Given the description of an element on the screen output the (x, y) to click on. 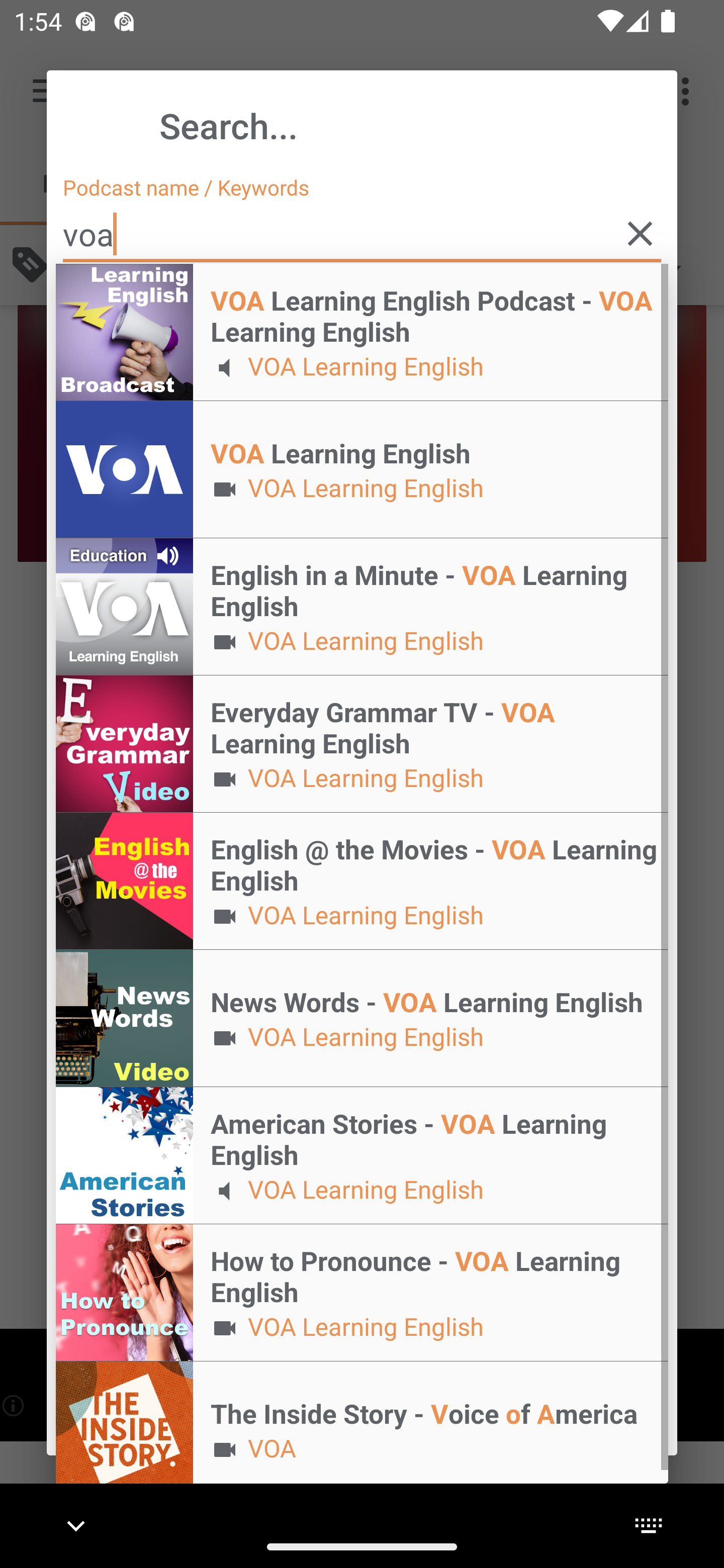
voa (361, 234)
